Given the description of an element on the screen output the (x, y) to click on. 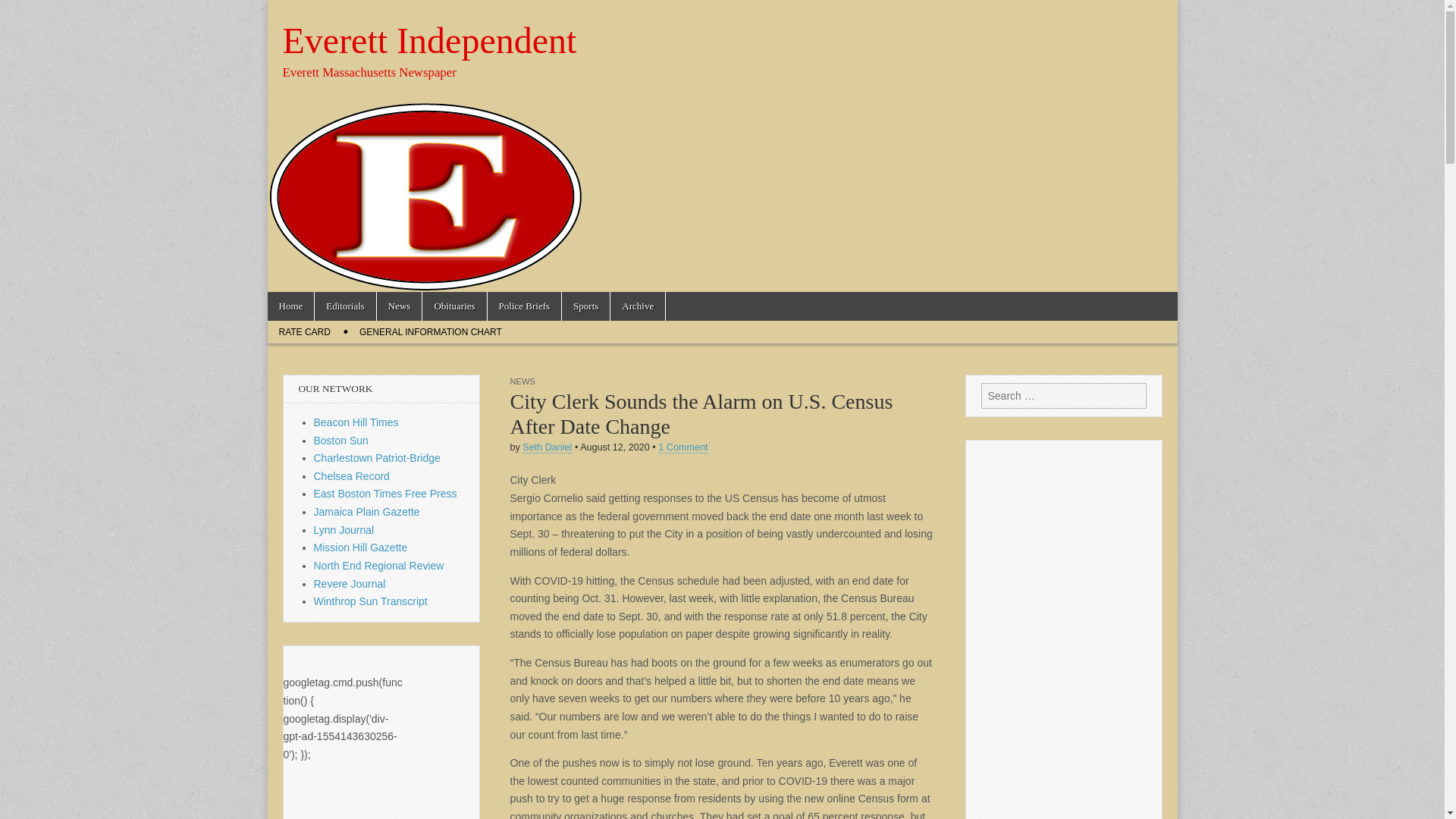
Jamaica Plain Gazette (367, 511)
Home (290, 306)
Obituaries (454, 306)
Charlestown Patriot-Bridge (377, 458)
Winthrop Sun Transcript (371, 601)
Sports (586, 306)
News (399, 306)
Posts by Seth Daniel (547, 447)
Everett Independent (429, 40)
Revere Journal (349, 583)
Editorials (344, 306)
Seth Daniel (547, 447)
RATE CARD (303, 332)
Mission Hill Gazette (360, 547)
